Given the description of an element on the screen output the (x, y) to click on. 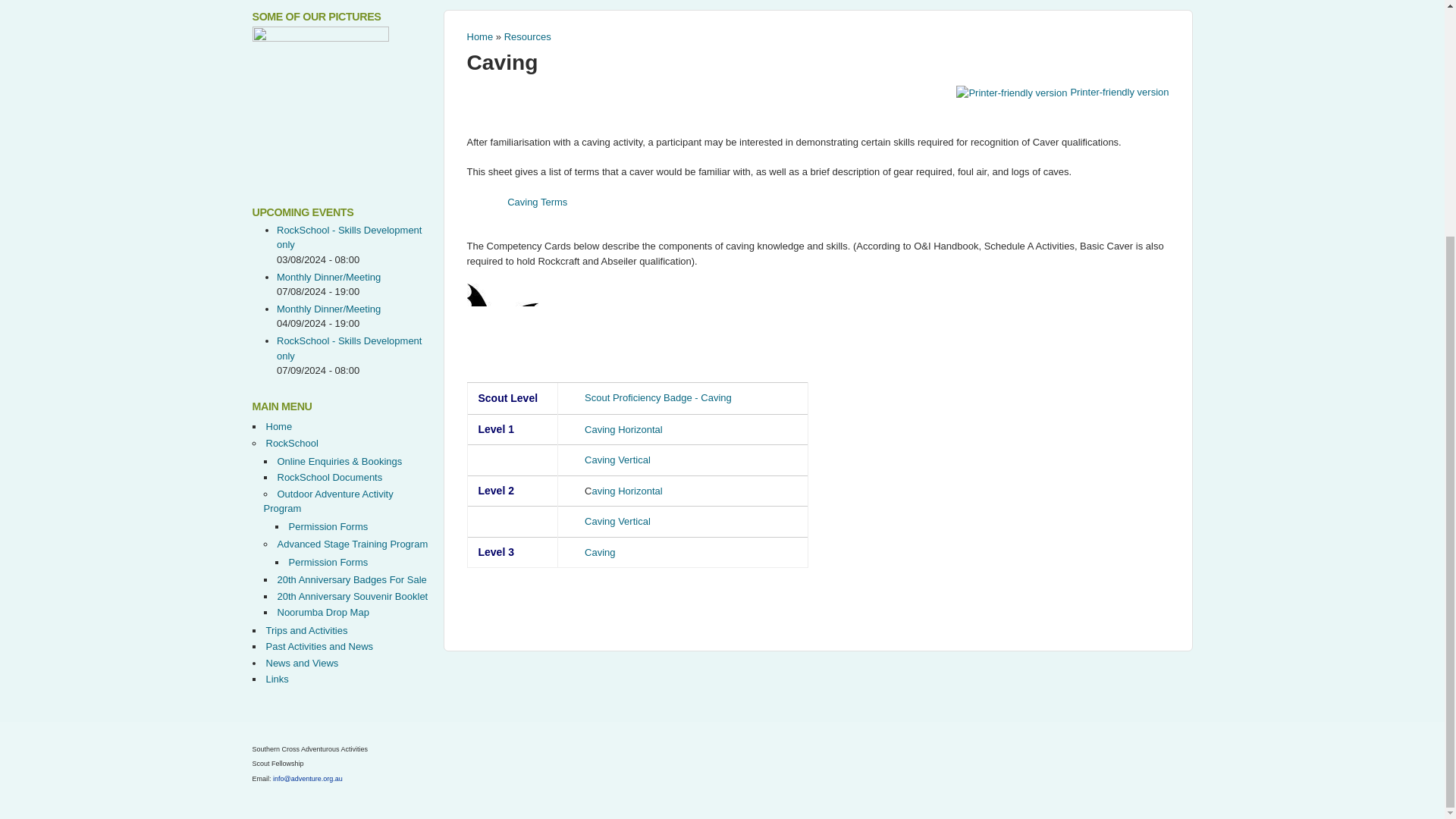
Home (480, 36)
Printer-friendly version (1062, 91)
Log in (833, 154)
Caving (502, 61)
Resources (527, 36)
